Given the description of an element on the screen output the (x, y) to click on. 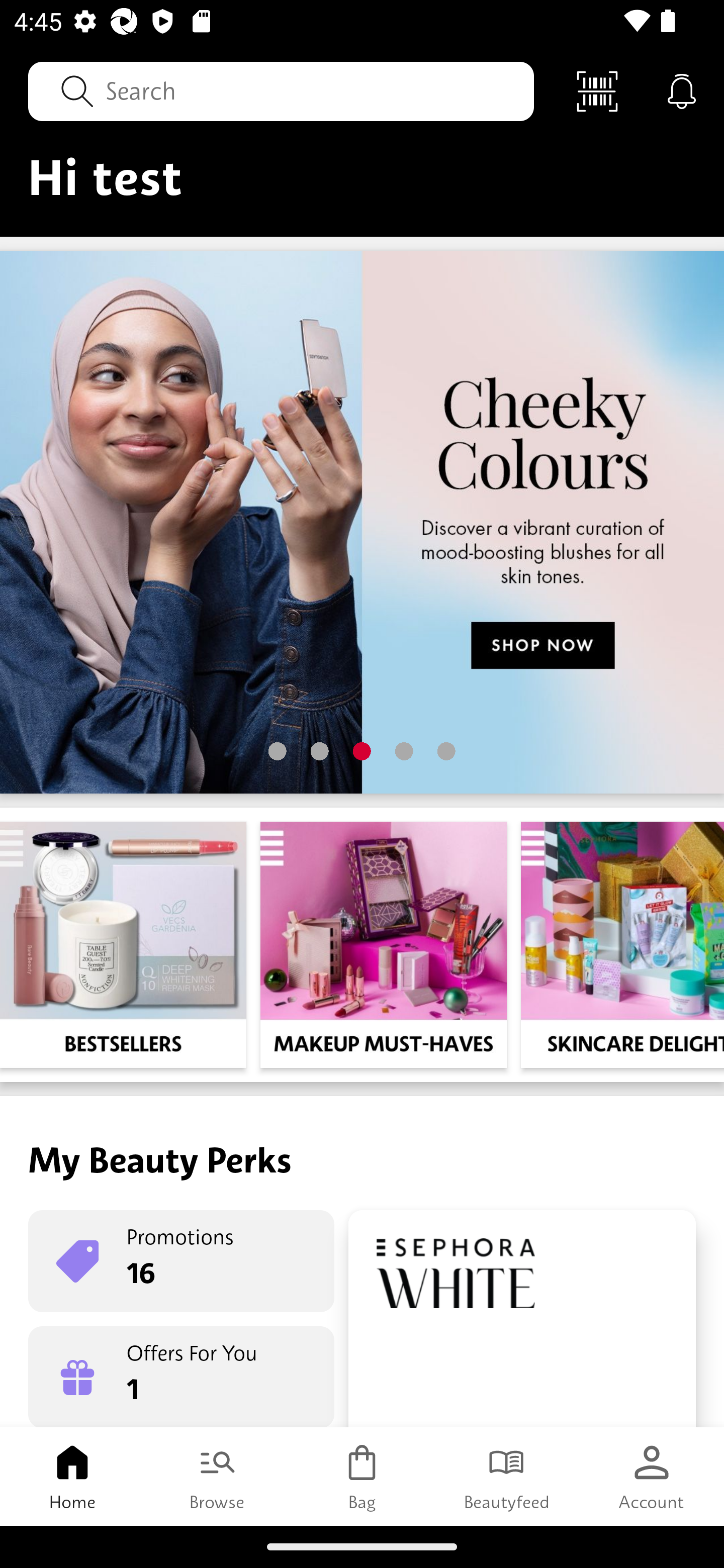
Scan Code (597, 90)
Notifications (681, 90)
Search (281, 90)
Promotions 16 (181, 1261)
Rewards Boutique 90 Pts (521, 1318)
Offers For You 1 (181, 1376)
Browse (216, 1475)
Bag (361, 1475)
Beautyfeed (506, 1475)
Account (651, 1475)
